Given the description of an element on the screen output the (x, y) to click on. 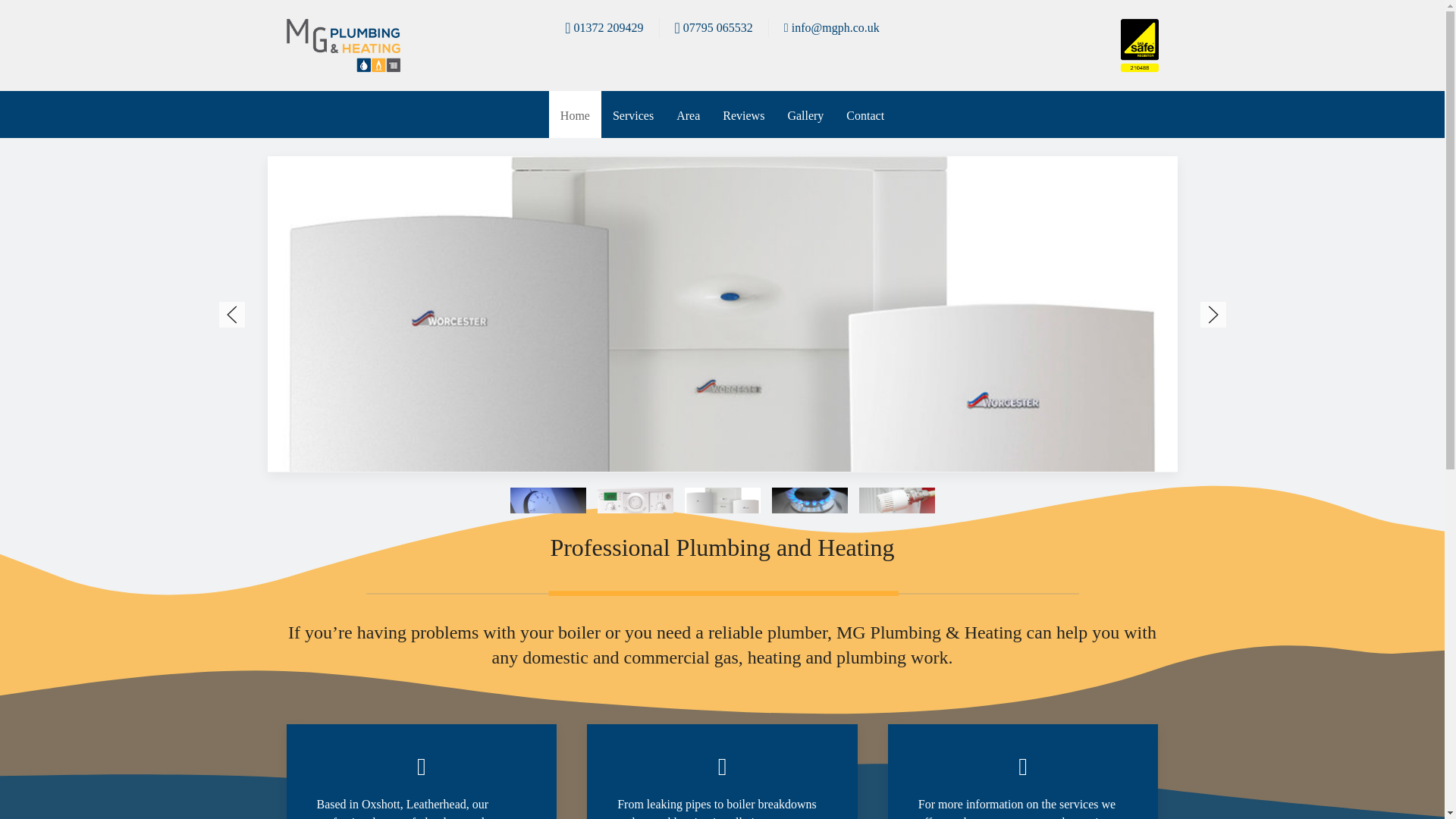
Services (633, 114)
Gas Safe Register (1139, 43)
Gallery (805, 114)
Reviews (743, 114)
Contact (864, 114)
Home (574, 114)
Area (688, 114)
01372 209429 (603, 27)
07795 065532 (713, 27)
